Given the description of an element on the screen output the (x, y) to click on. 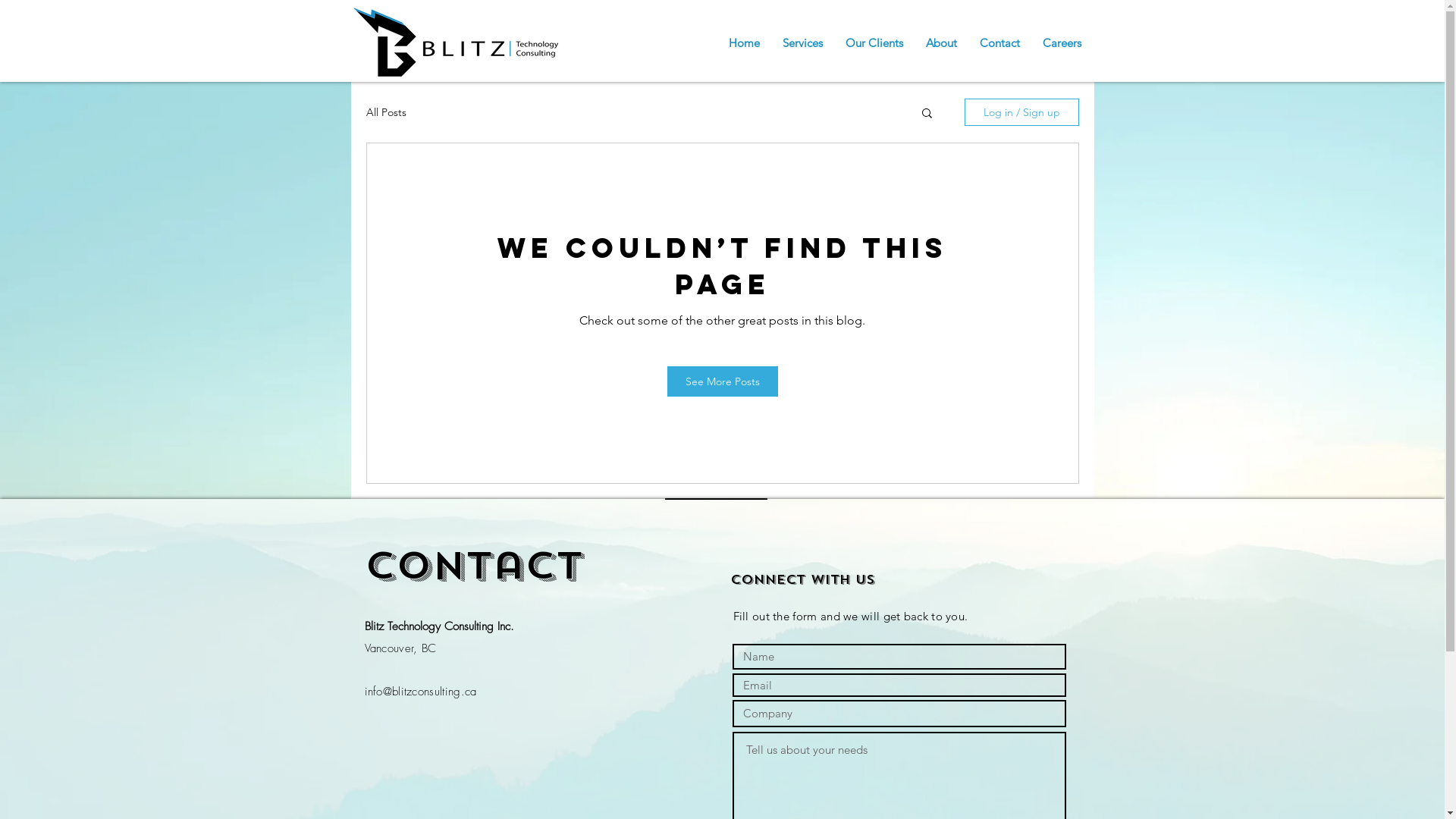
Services Element type: text (801, 43)
Home Element type: text (744, 43)
Log in / Sign up Element type: text (1021, 111)
info@blitzconsulting.ca Element type: text (420, 691)
See More Posts Element type: text (722, 381)
Contact Element type: text (998, 43)
Our Clients Element type: text (874, 43)
About Element type: text (941, 43)
Careers Element type: text (1061, 43)
All Posts Element type: text (385, 112)
